Given the description of an element on the screen output the (x, y) to click on. 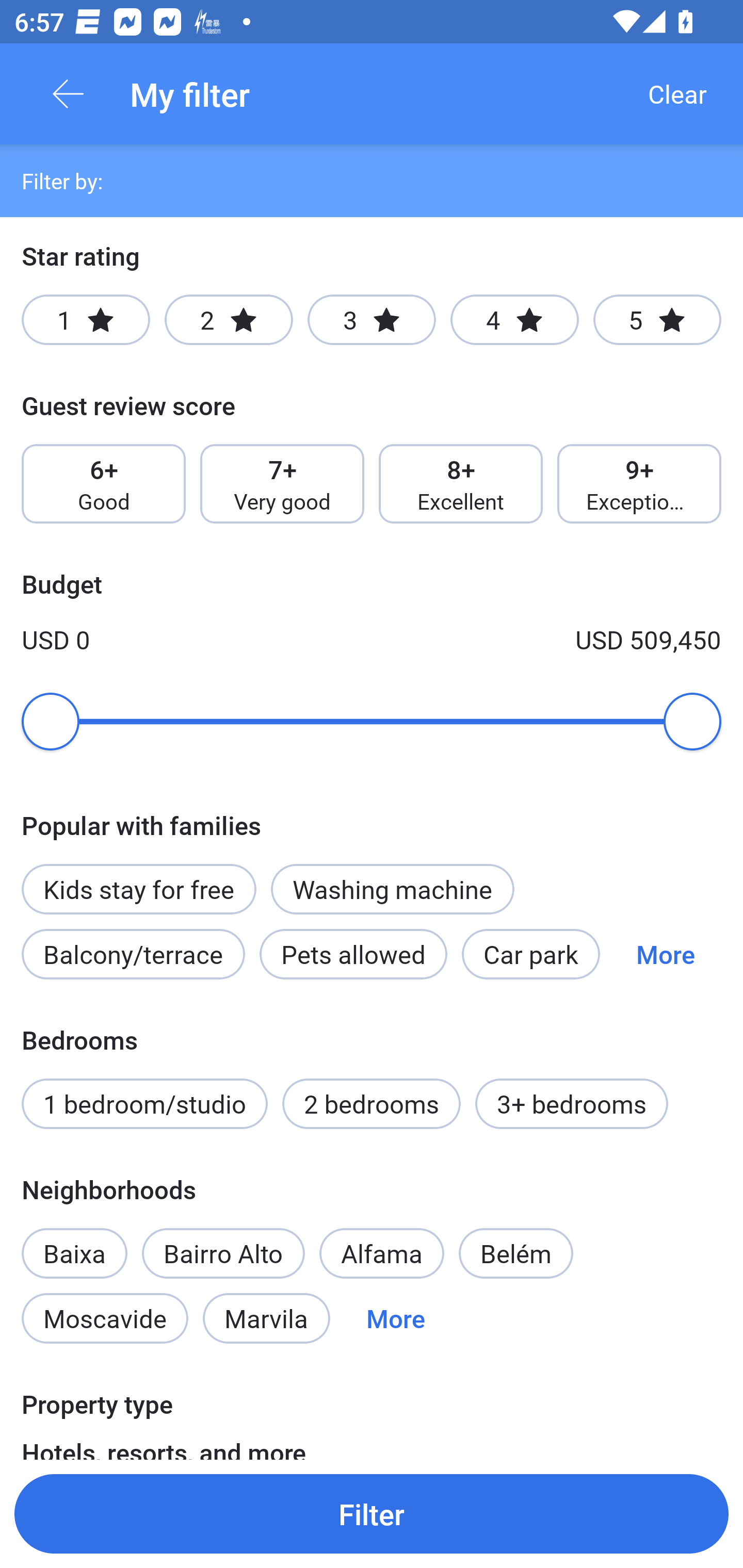
Clear (676, 93)
1 (85, 319)
2 (228, 319)
3 (371, 319)
4 (514, 319)
5 (657, 319)
6+ Good (103, 483)
7+ Very good (281, 483)
8+ Excellent (460, 483)
9+ Exceptional (639, 483)
Kids stay for free (138, 888)
Washing machine (392, 888)
Balcony/terrace (133, 954)
Pets allowed (353, 954)
Car park (531, 954)
More (665, 954)
1 bedroom/studio (144, 1103)
2 bedrooms (371, 1103)
3+ bedrooms (571, 1103)
Baixa (74, 1242)
Bairro Alto (222, 1253)
Alfama (381, 1253)
Belém (515, 1253)
Moscavide (104, 1317)
Marvila (265, 1317)
More (395, 1317)
Filter (371, 1513)
